Given the description of an element on the screen output the (x, y) to click on. 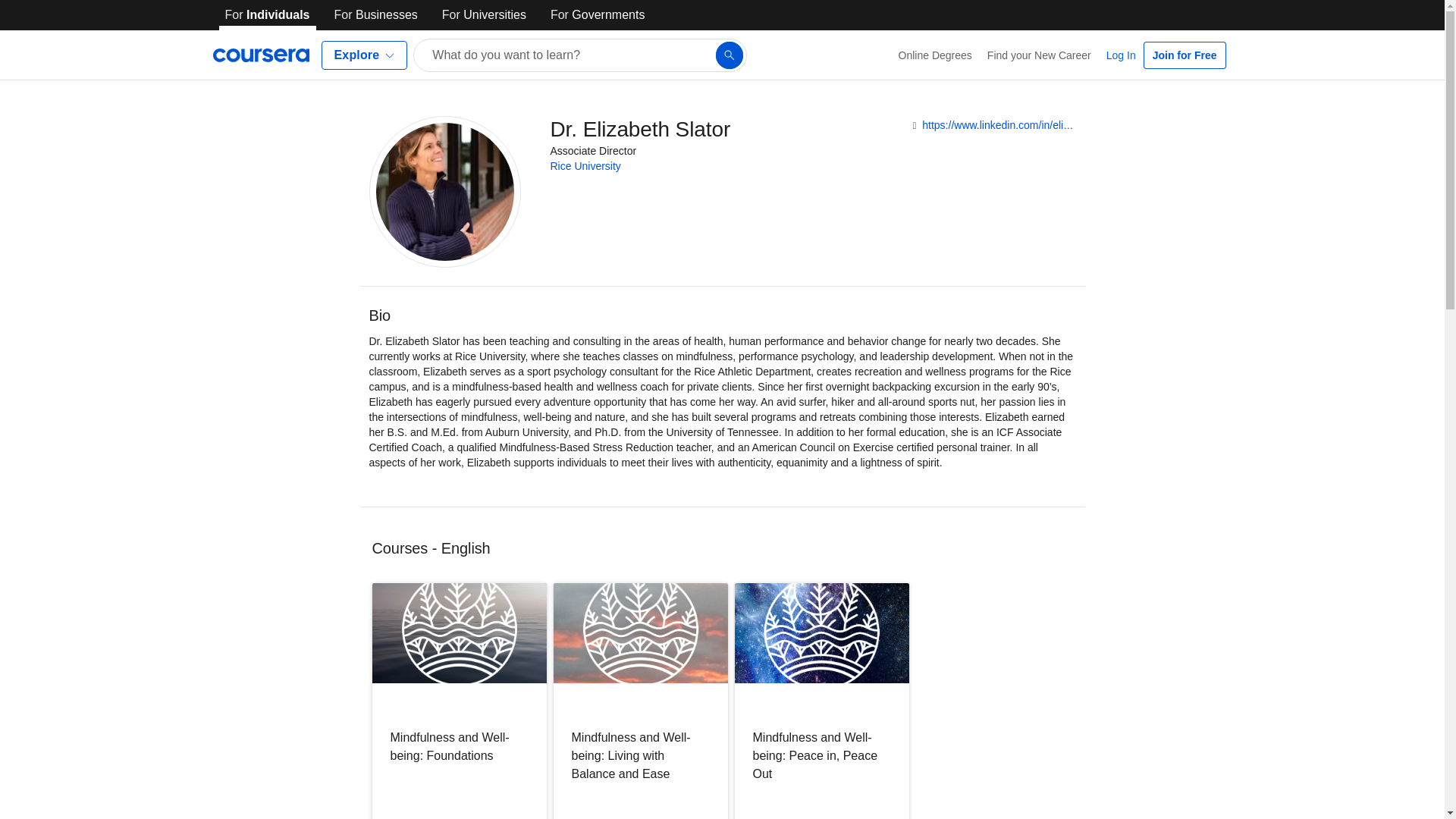
For Universities (483, 15)
Log In (1120, 54)
Online Degrees (935, 54)
For Individuals (266, 15)
Join for Free (1183, 53)
For Governments (597, 15)
Explore (364, 54)
Find your New Career (1039, 54)
For Businesses (376, 15)
Rice University (585, 165)
